Given the description of an element on the screen output the (x, y) to click on. 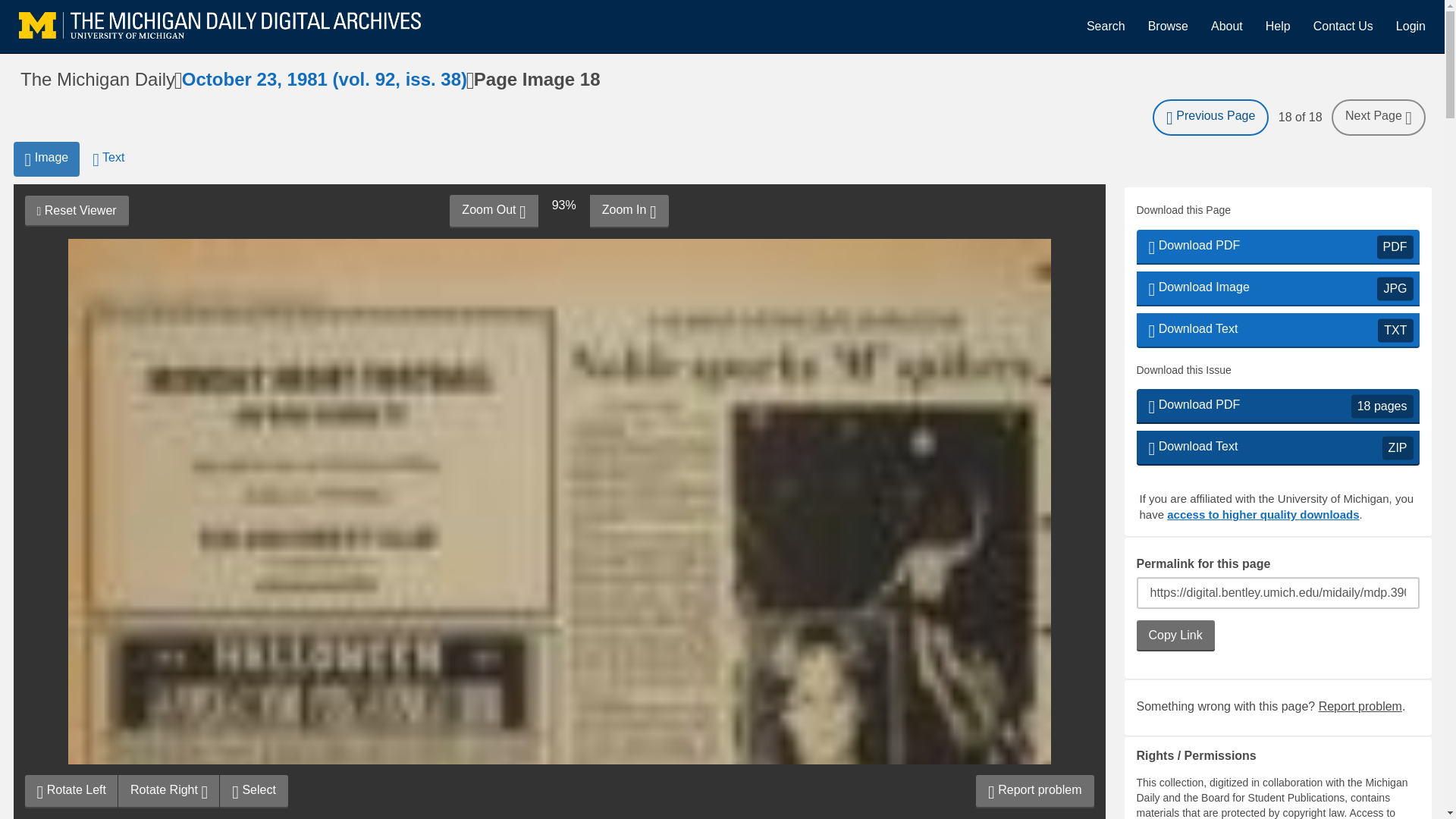
Report problem (1360, 706)
Previous Page (1210, 117)
Report problem (1034, 791)
access to higher quality downloads (1262, 513)
Zoom Out (493, 211)
Copy Link (1174, 635)
Help (1276, 406)
Zoom In (1277, 26)
